Given the description of an element on the screen output the (x, y) to click on. 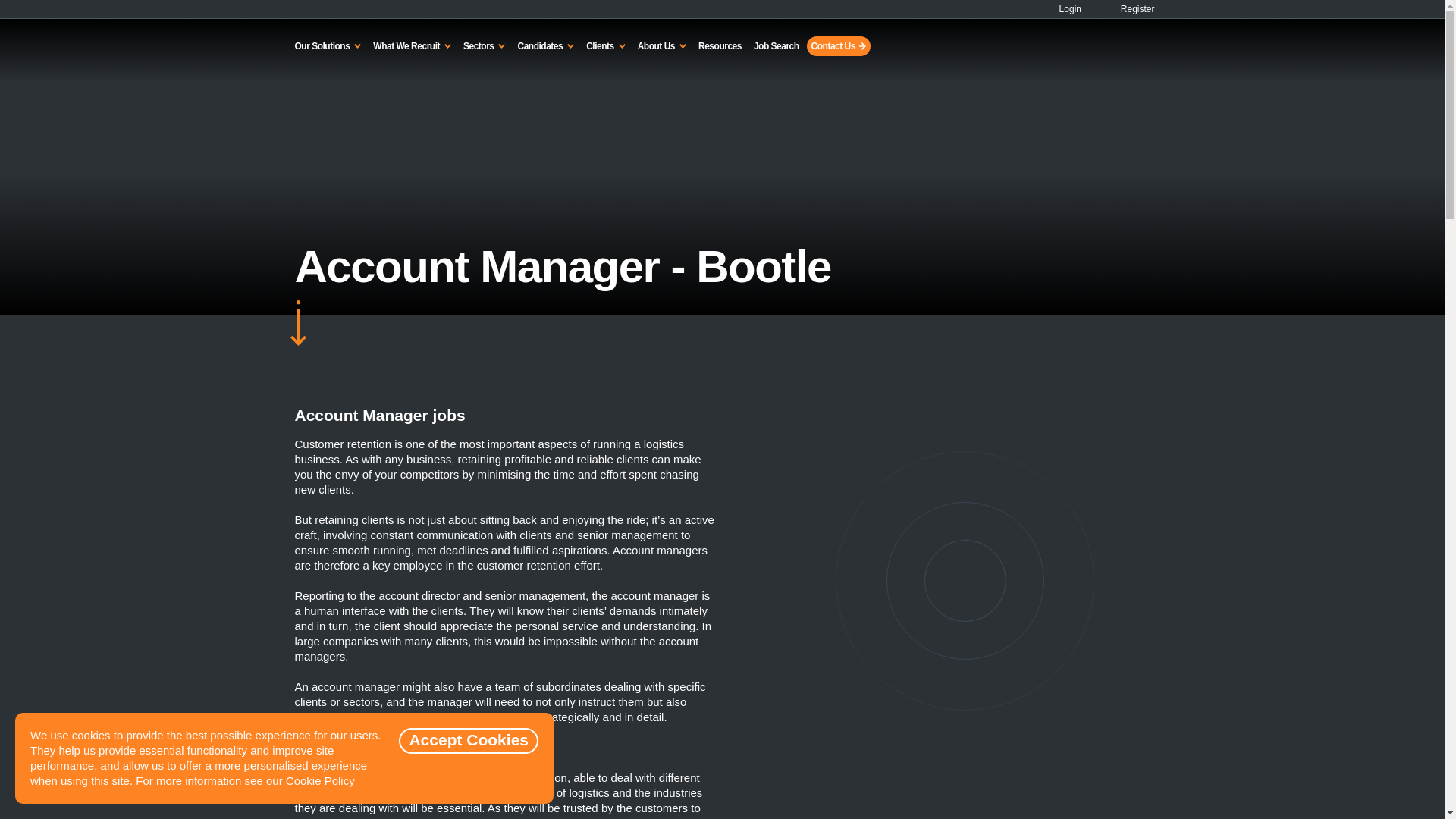
Our Solutions (327, 46)
Register (1128, 9)
What We Recruit (411, 46)
Sectors (484, 46)
Login (1063, 9)
